Given the description of an element on the screen output the (x, y) to click on. 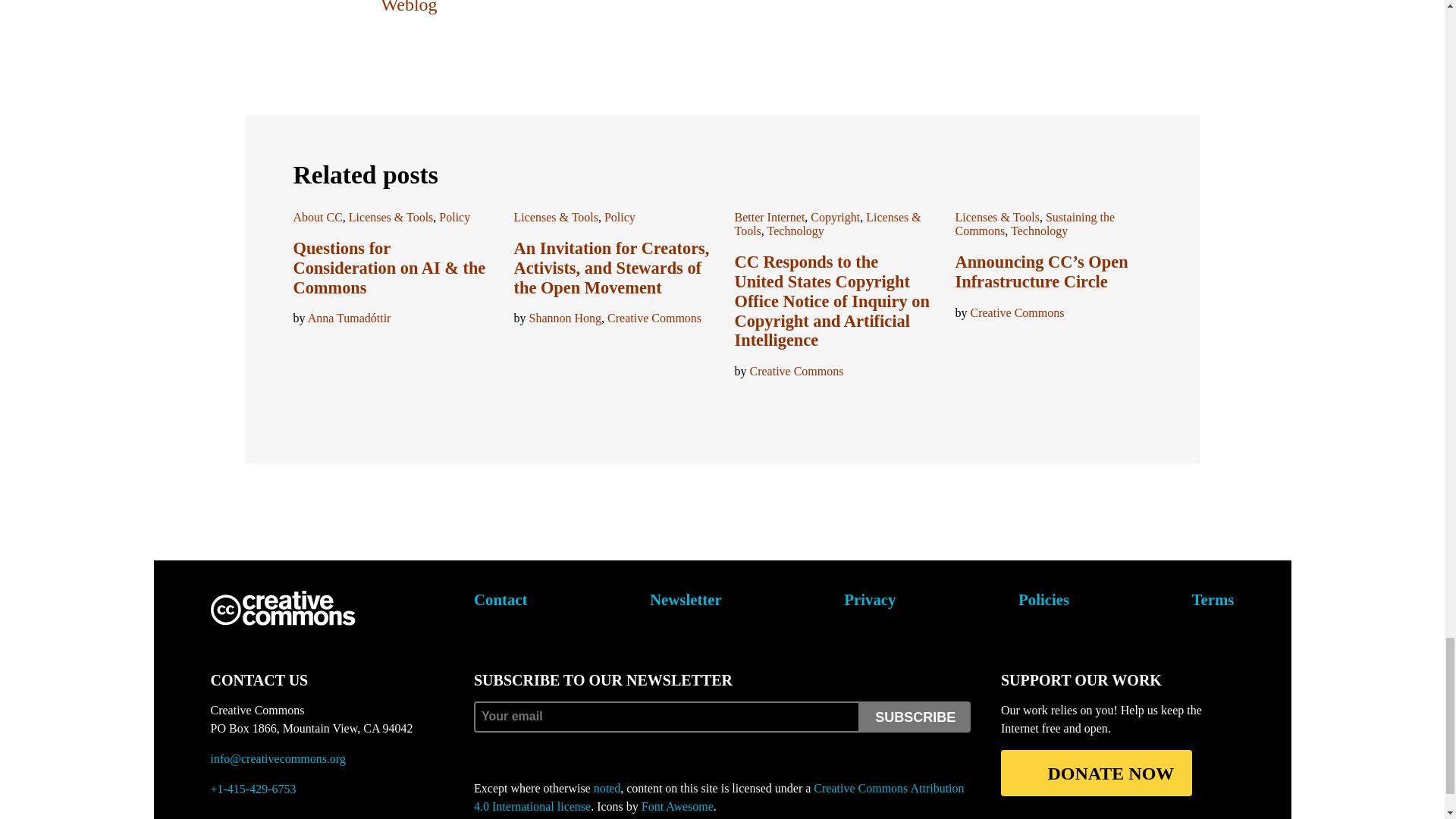
subscribe (915, 716)
